Given the description of an element on the screen output the (x, y) to click on. 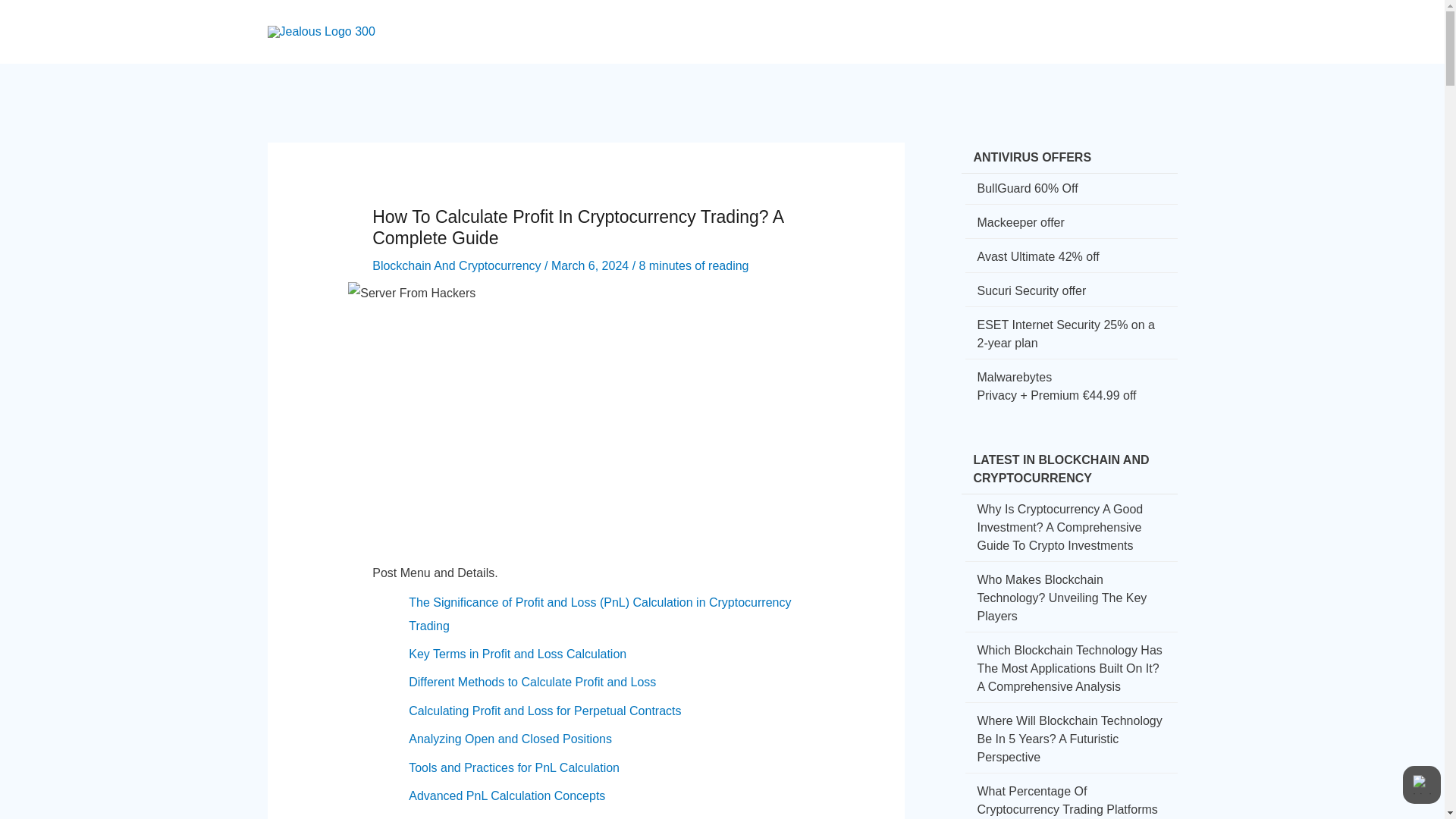
Advanced PnL Calculation Concepts (507, 795)
Blockchain And Cryptocurrency (456, 265)
Analyzing Open and Closed Positions (510, 738)
How-To (802, 18)
Cyber Security (713, 18)
Social (863, 18)
Key Terms in Profit and Loss Calculation (517, 653)
Calculating Profit and Loss for Perpetual Contracts (545, 710)
Different Methods to Calculate Profit and Loss (532, 681)
